Given the description of an element on the screen output the (x, y) to click on. 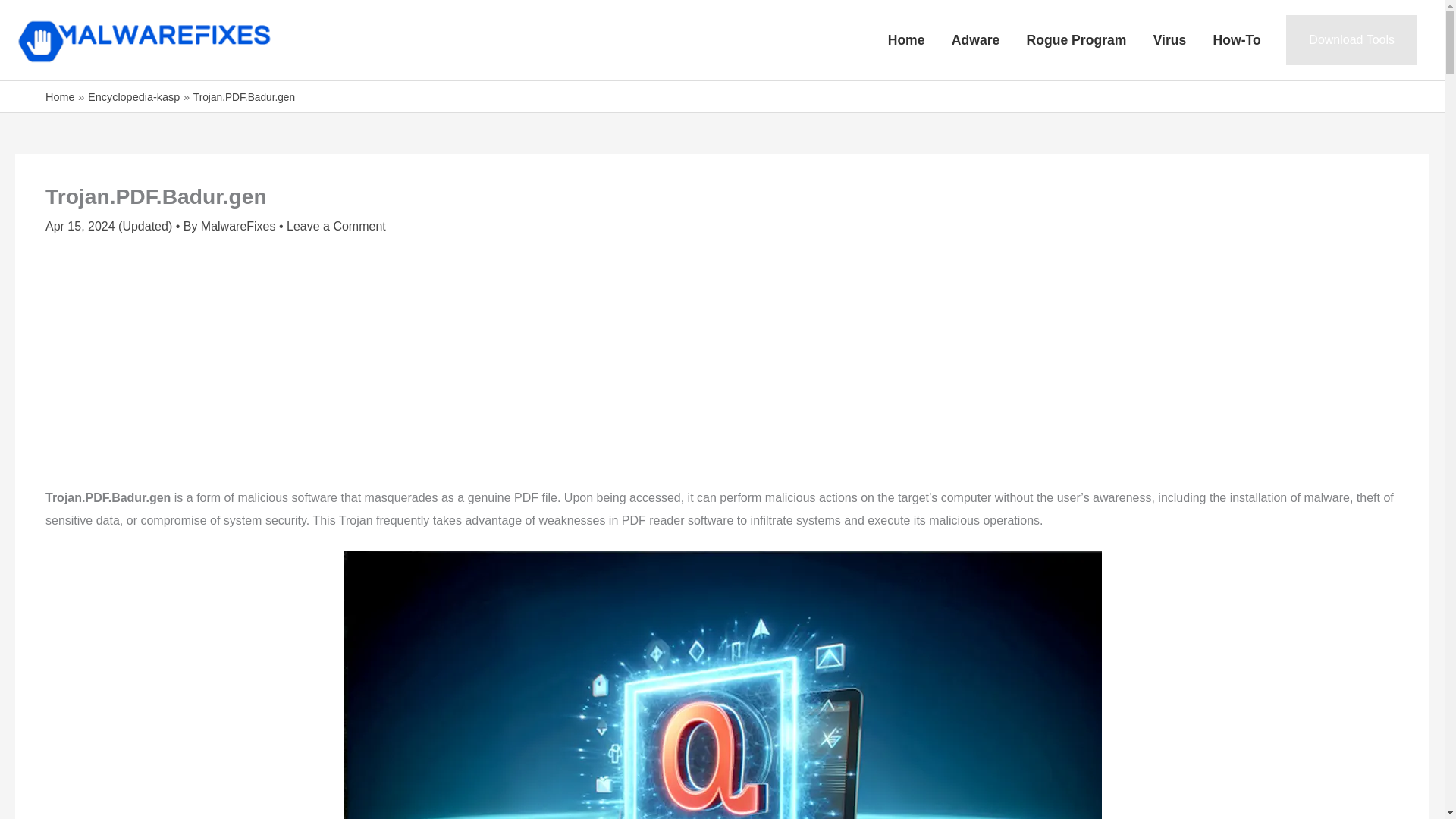
Download Tools (1350, 40)
Leave a Comment (335, 226)
Home (60, 96)
How-To (1236, 40)
Adware (975, 40)
View all posts by MalwareFixes (239, 226)
Rogue Program (1076, 40)
MalwareFixes (239, 226)
Advertisement (721, 365)
